Given the description of an element on the screen output the (x, y) to click on. 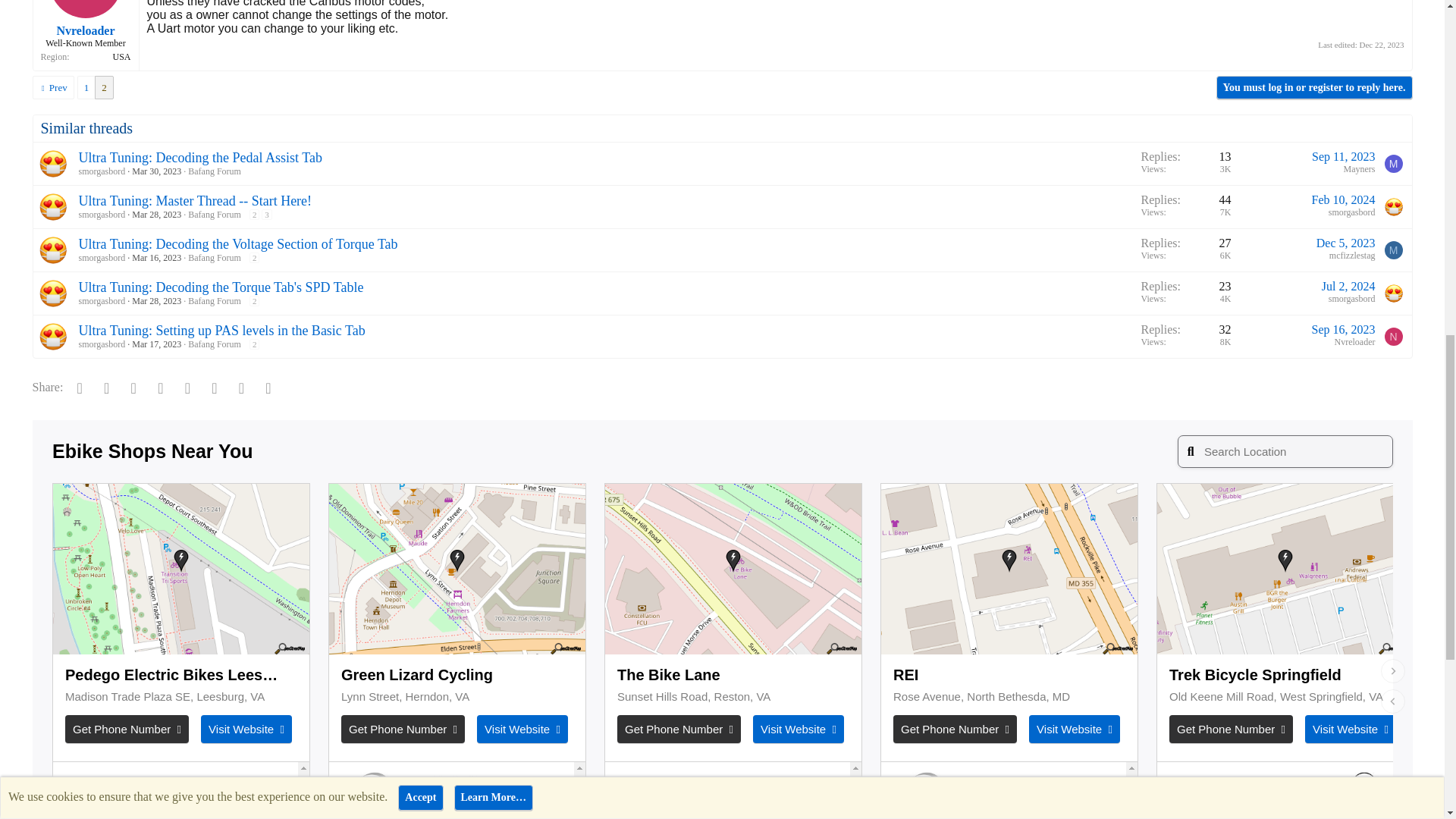
Sep 11, 2023 at 6:13 AM (1342, 155)
First message reaction score: 3 (1185, 163)
Mar 30, 2023 at 8:32 PM (156, 171)
Dec 22, 2023 at 9:09 AM (1382, 44)
